Given the description of an element on the screen output the (x, y) to click on. 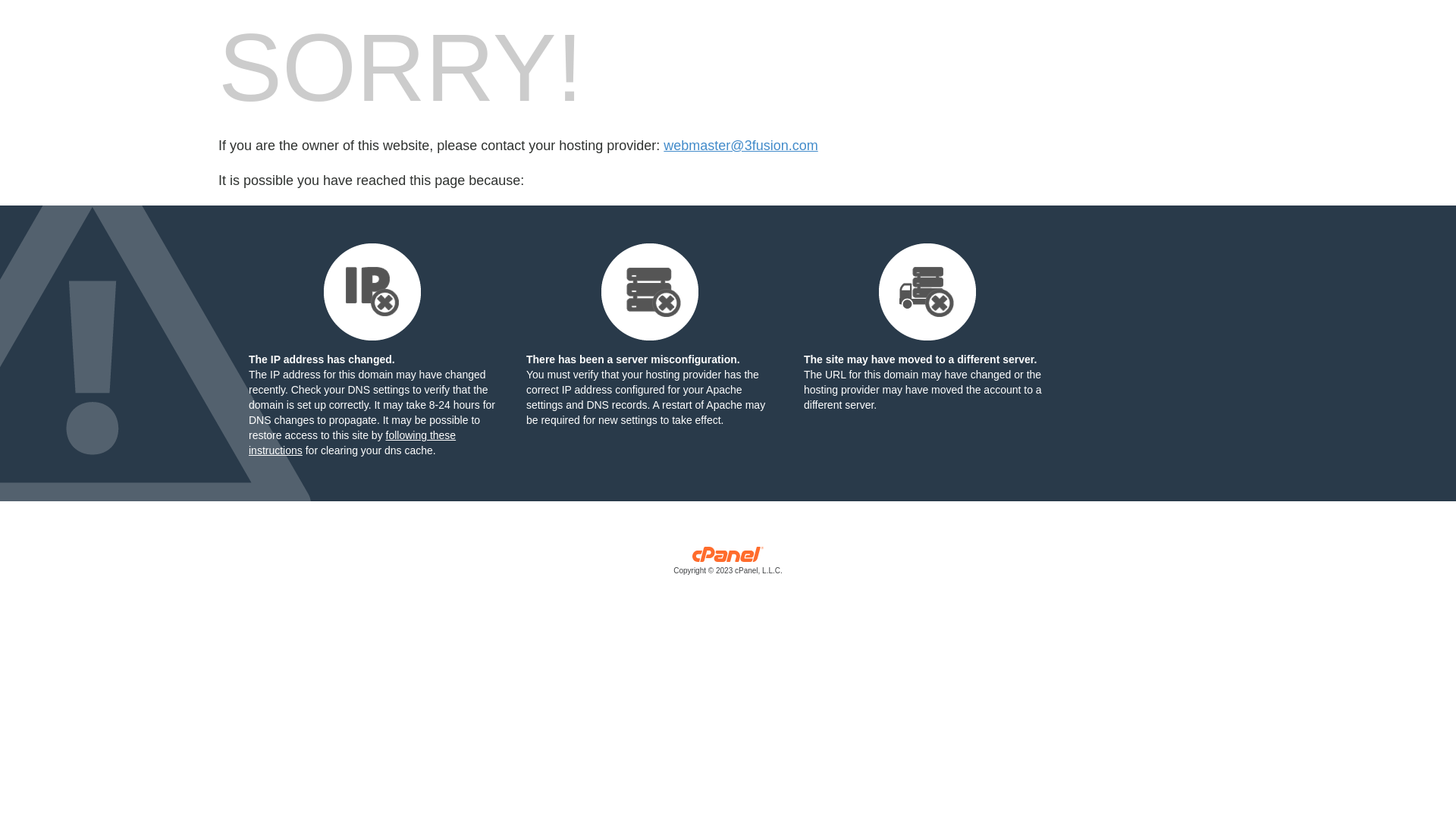
following these instructions Element type: text (351, 442)
webmaster@3fusion.com Element type: text (740, 145)
